Given the description of an element on the screen output the (x, y) to click on. 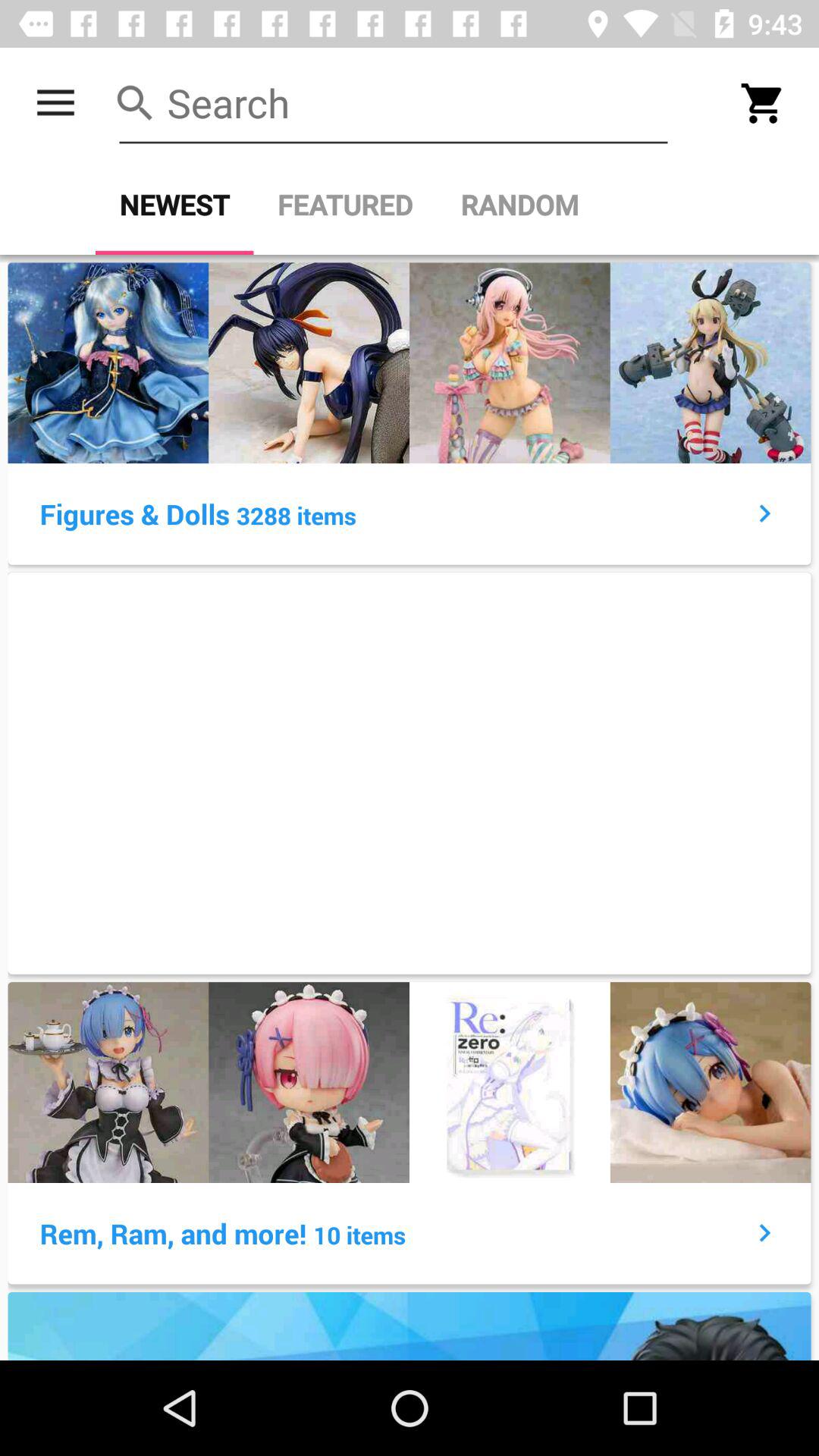
launch the item next to featured icon (174, 204)
